Given the description of an element on the screen output the (x, y) to click on. 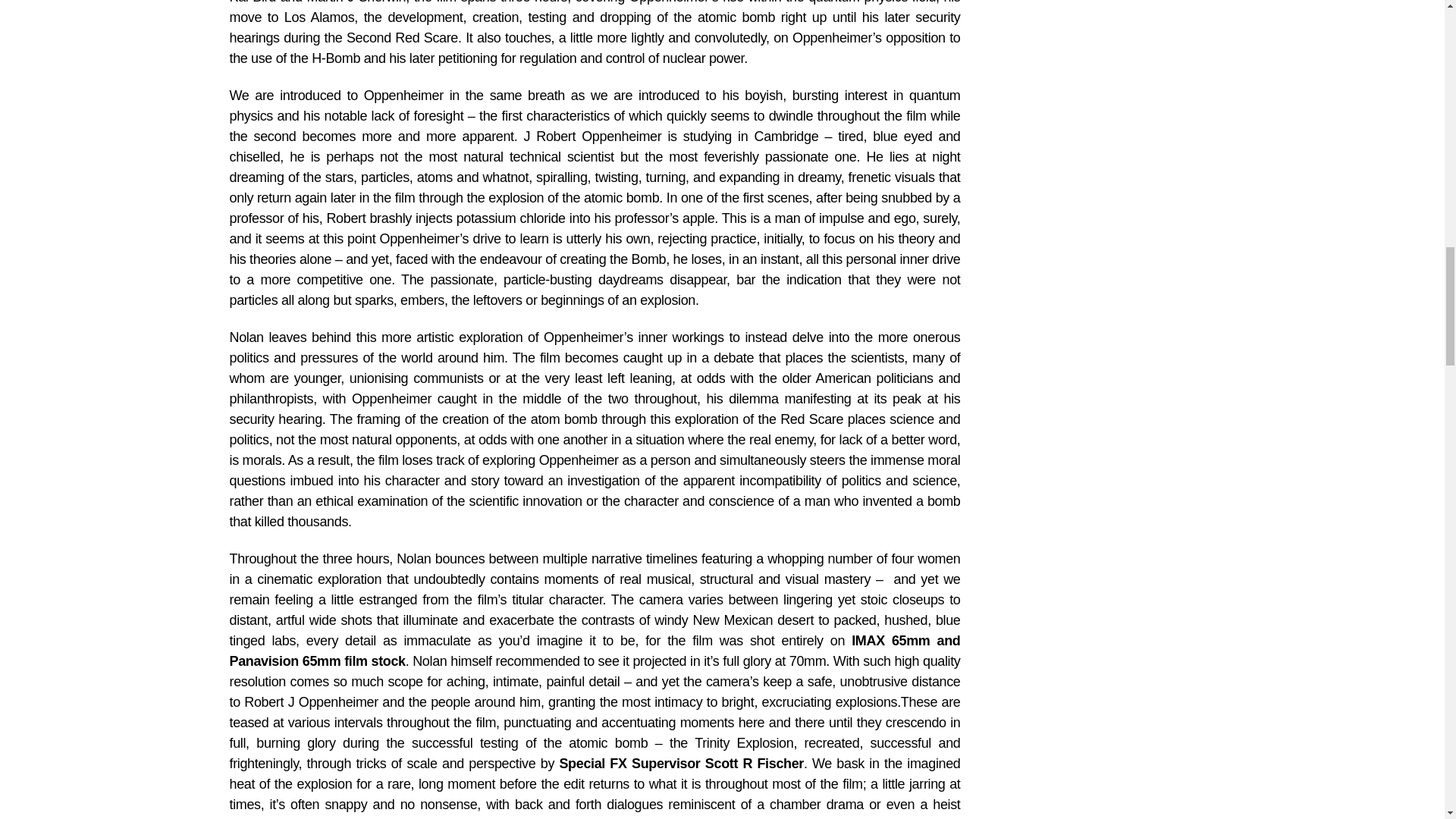
Special FX Supervisor Scott R Fischer (681, 763)
70mm (805, 661)
IMAX 65mm and Panavision 65mm film stock (593, 651)
